Given the description of an element on the screen output the (x, y) to click on. 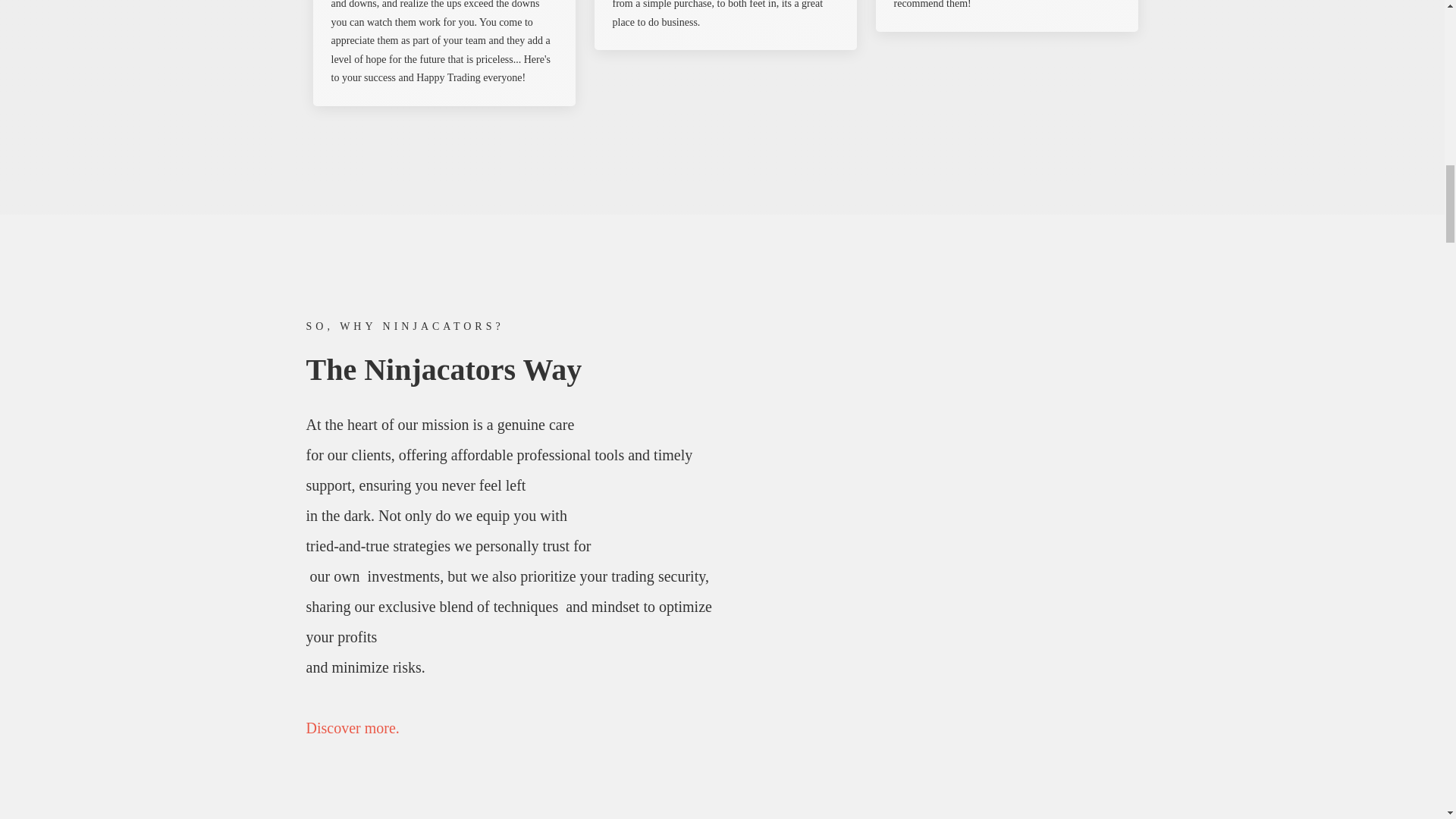
Customer reviews powered by Trustpilot (721, 144)
Discover more. (351, 727)
